Given the description of an element on the screen output the (x, y) to click on. 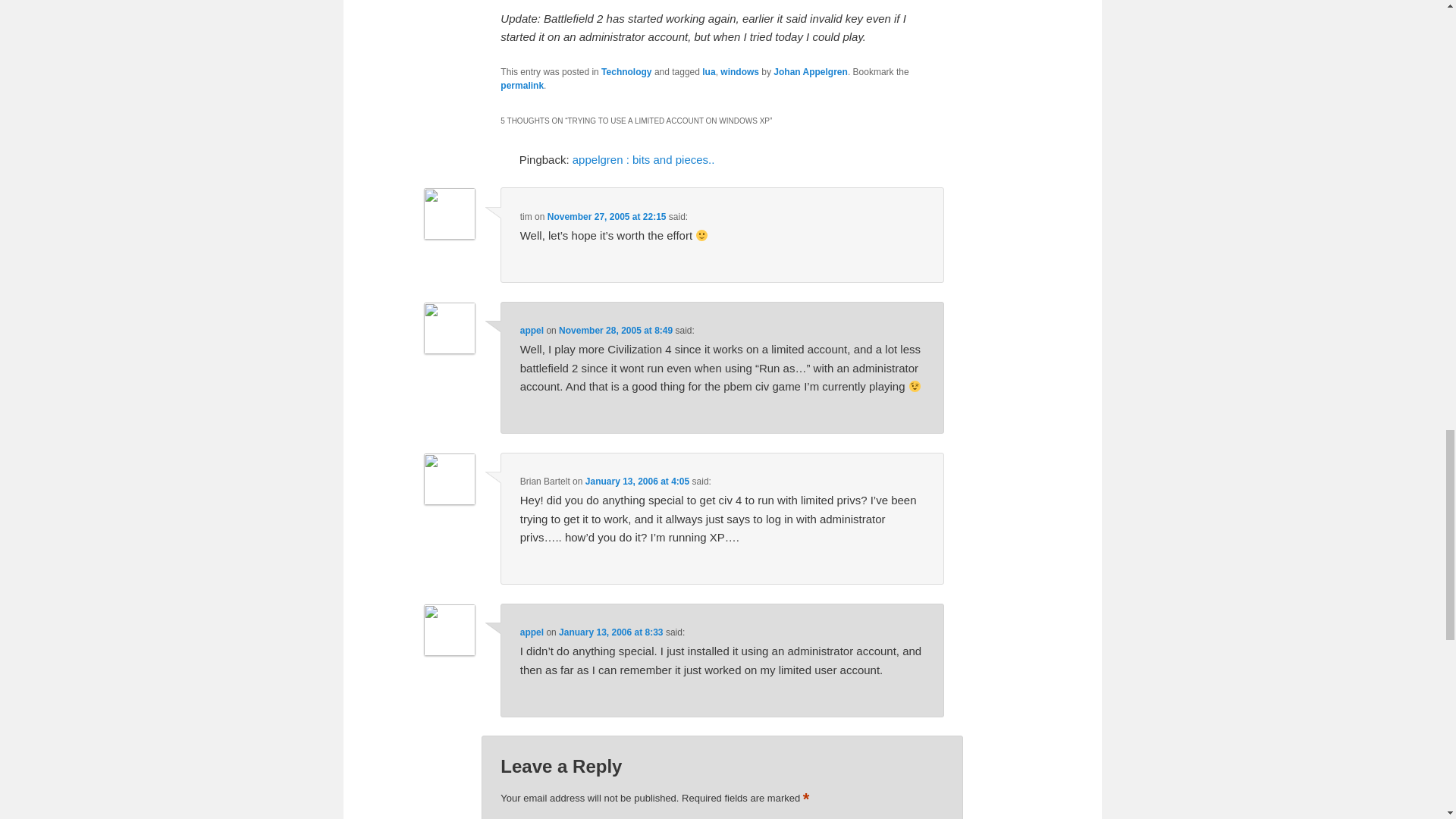
January 13, 2006 at 4:05 (636, 480)
permalink (521, 85)
January 13, 2006 at 8:33 (610, 632)
Technology (625, 71)
Permalink to Trying to use a limited account on windows xp (521, 85)
appel (531, 632)
appel (531, 330)
lua (707, 71)
windows (739, 71)
Johan Appelgren (810, 71)
appelgren : bits and pieces.. (643, 159)
November 28, 2005 at 8:49 (615, 330)
November 27, 2005 at 22:15 (606, 216)
